Given the description of an element on the screen output the (x, y) to click on. 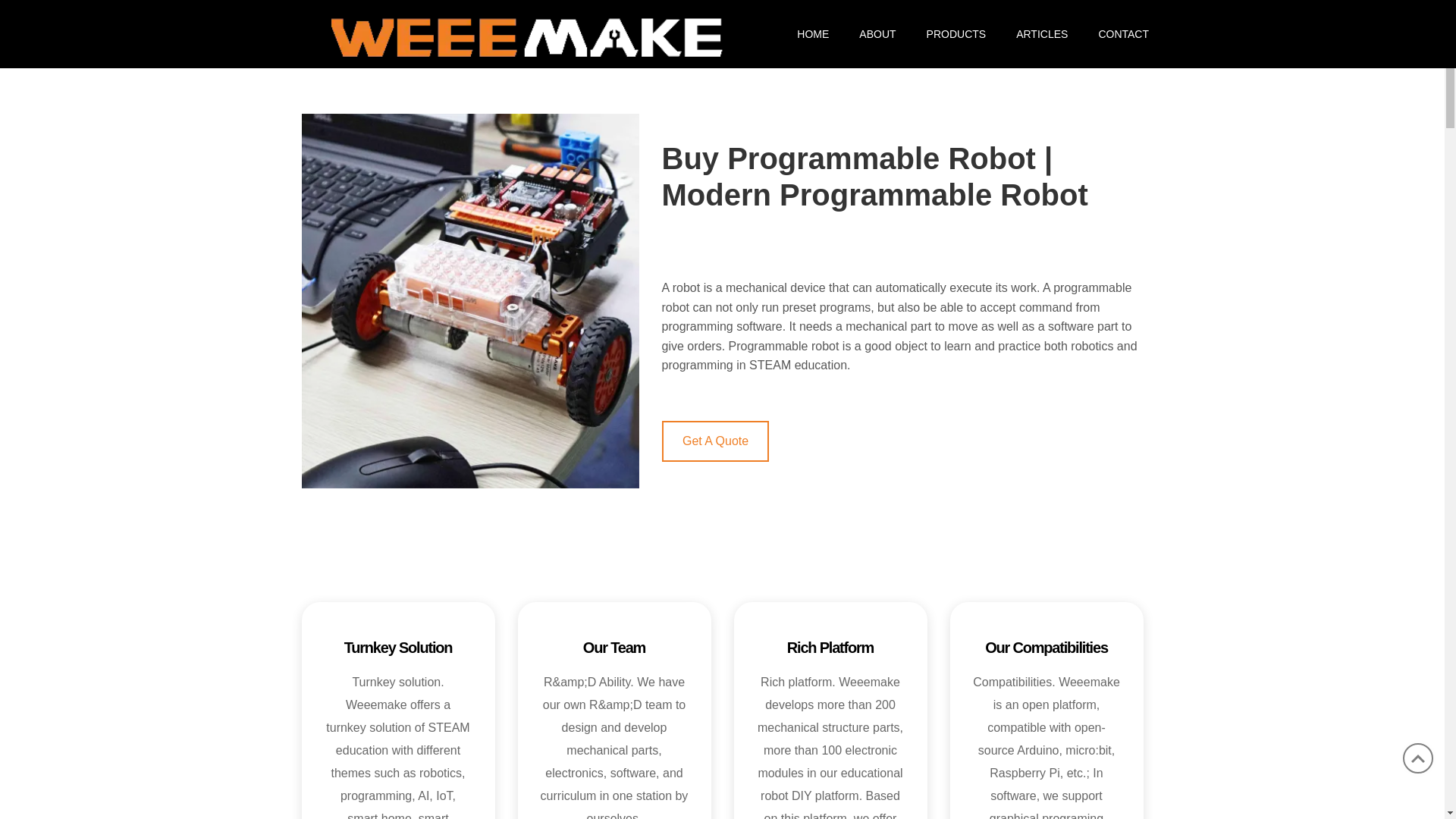
Back To Home (522, 32)
CONTACT (1115, 33)
Get A Quote (714, 440)
ARTICLES (1042, 33)
HOME (812, 33)
ABOUT (877, 33)
Get A Quote (714, 440)
PRODUCTS (956, 33)
